Given the description of an element on the screen output the (x, y) to click on. 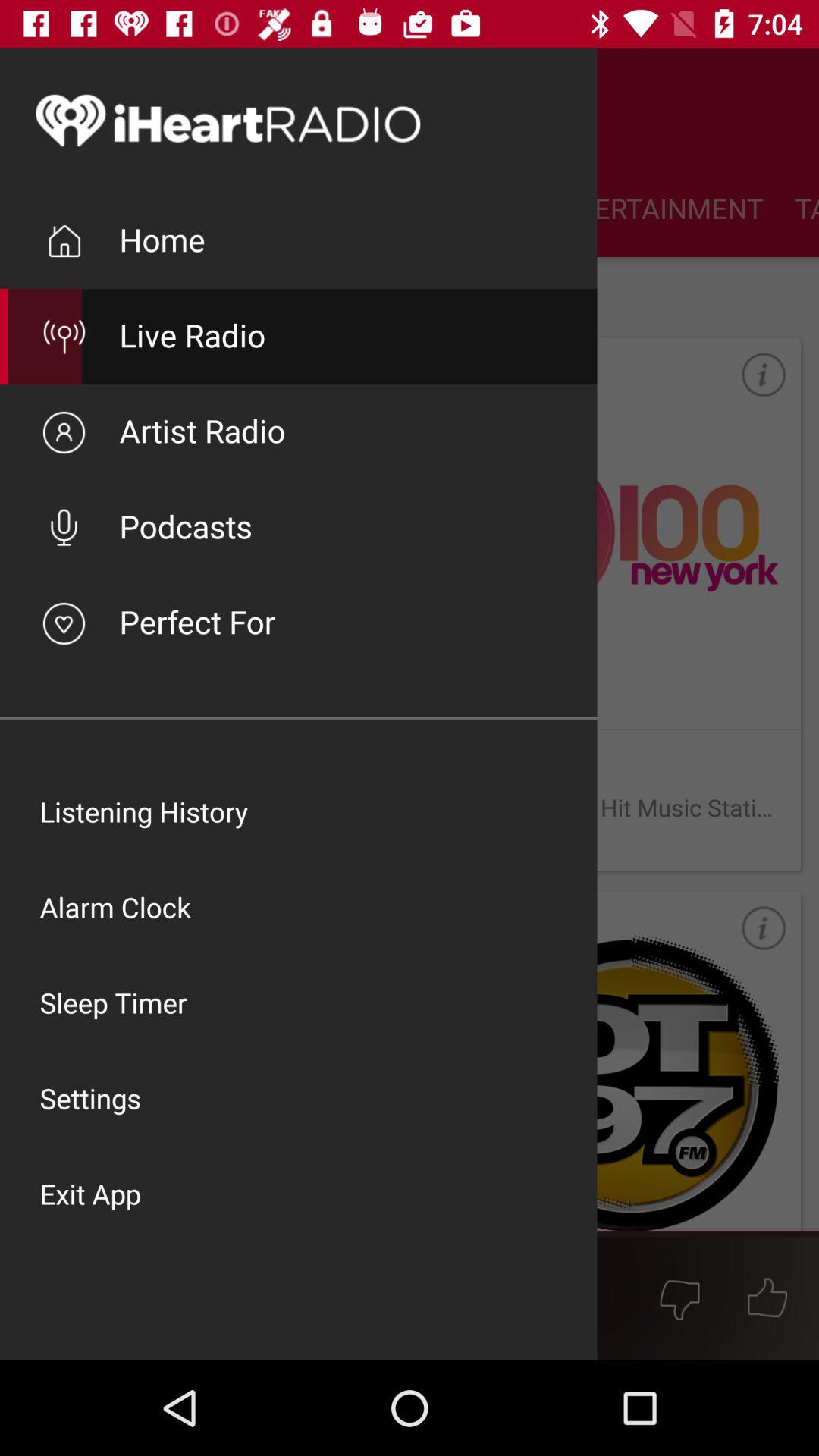
select the information icon which is on right side of live radio text (749, 388)
